Given the description of an element on the screen output the (x, y) to click on. 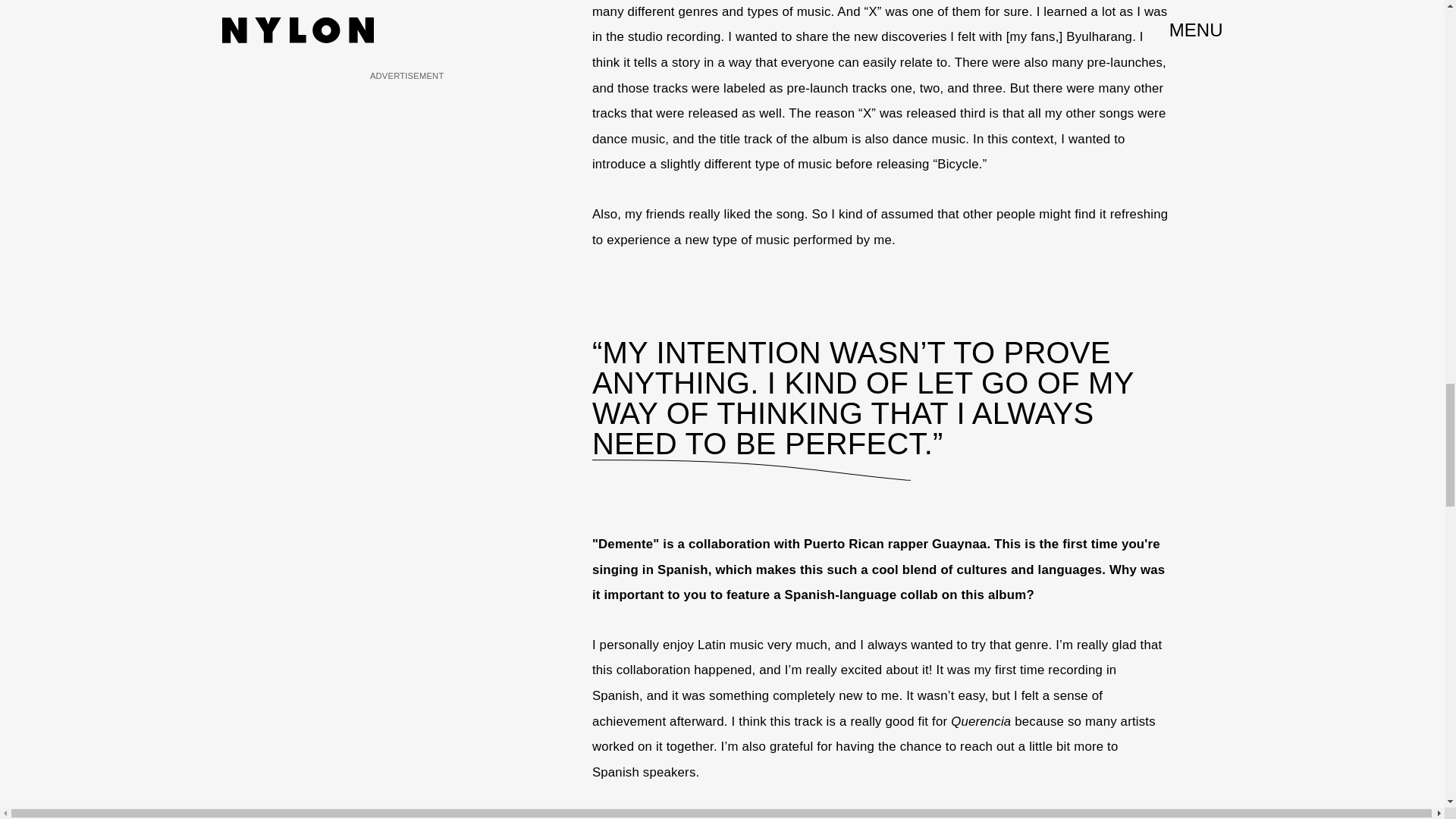
means (1038, 816)
